Given the description of an element on the screen output the (x, y) to click on. 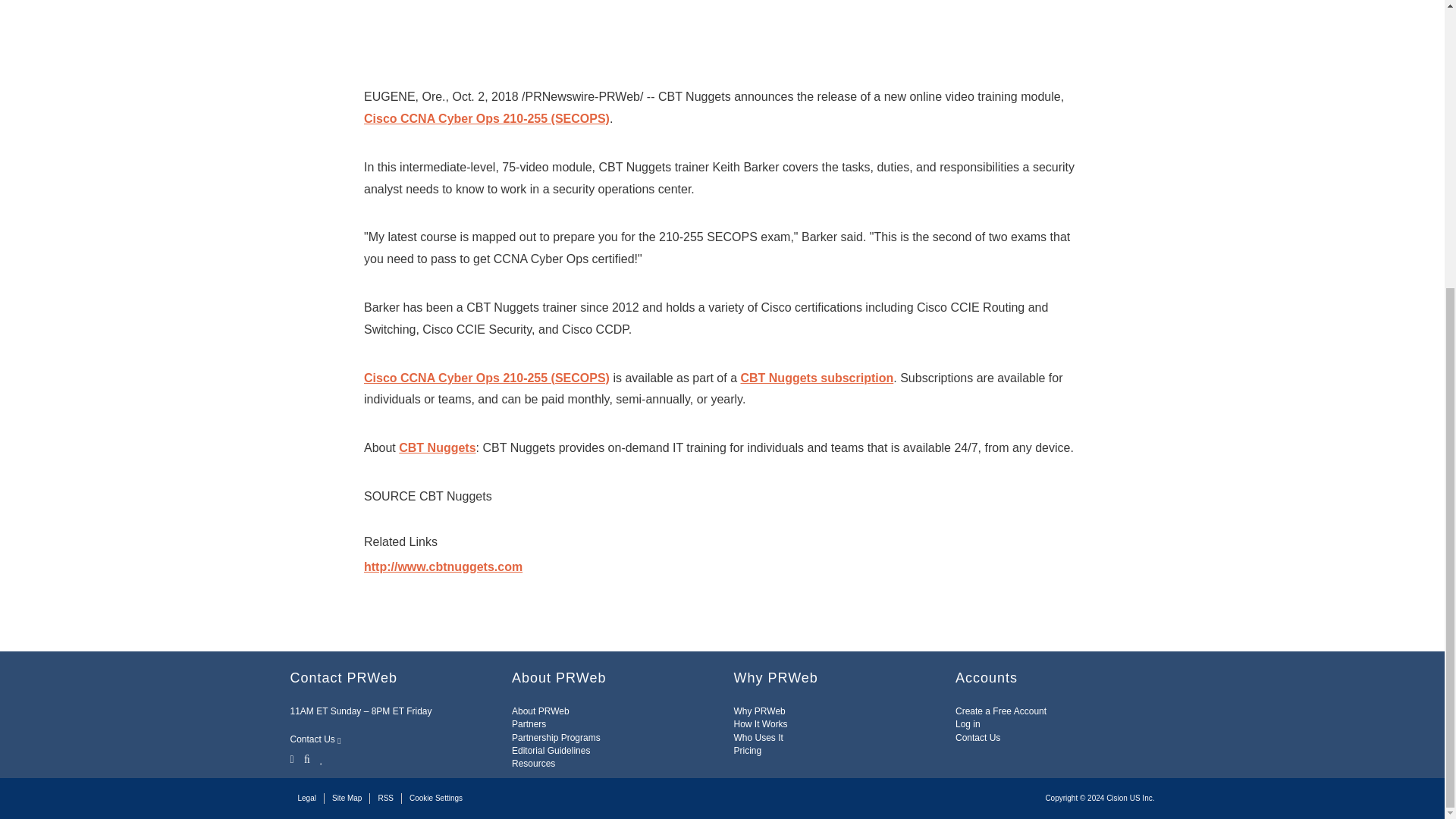
Partners (529, 724)
About PRWeb (540, 710)
Editorial Guidelines (550, 750)
Facebook (306, 758)
Resources (533, 763)
Partnership Programs (555, 737)
